Given the description of an element on the screen output the (x, y) to click on. 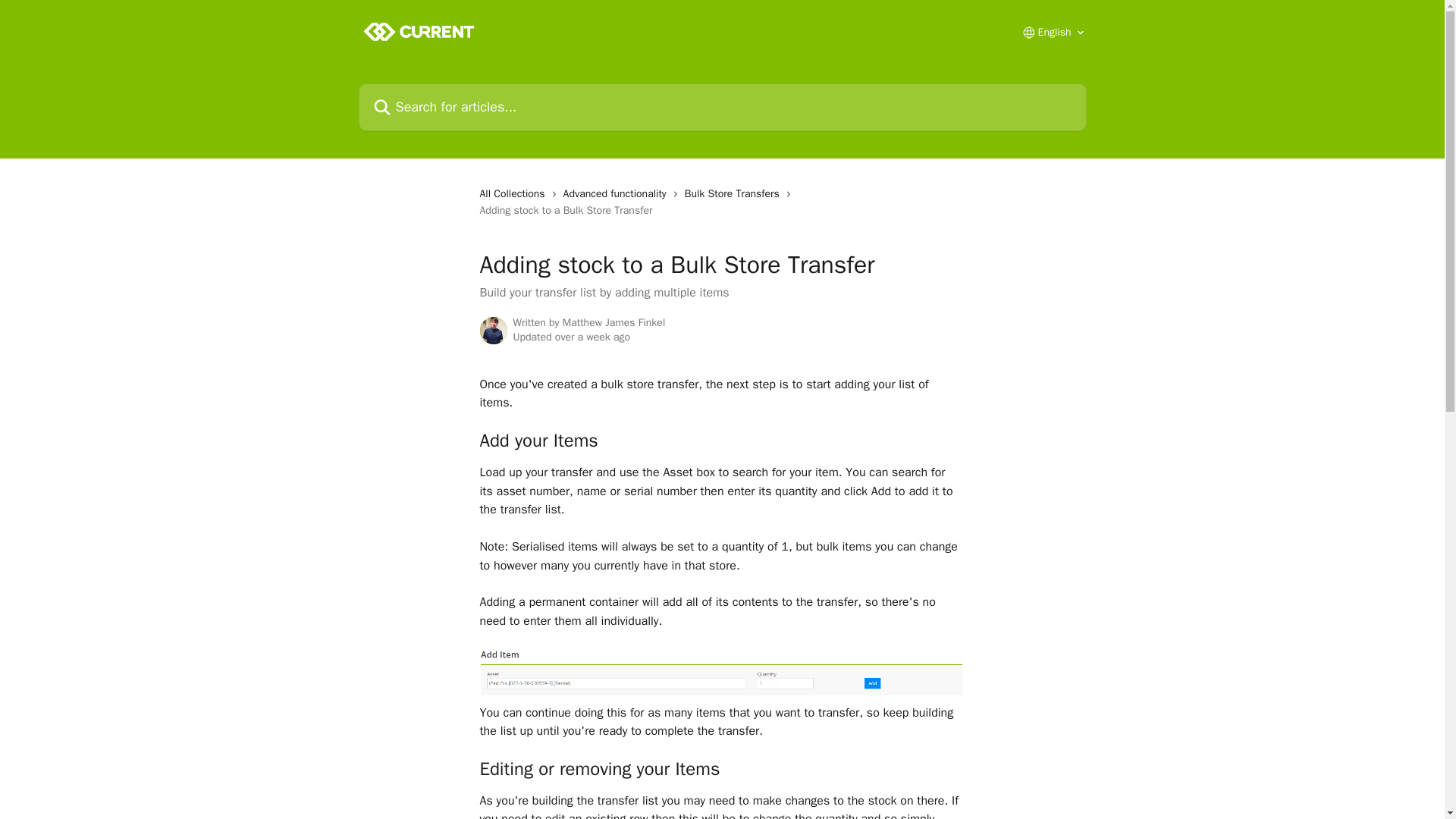
All Collections (514, 193)
Bulk Store Transfers (735, 193)
Advanced functionality (617, 193)
